Given the description of an element on the screen output the (x, y) to click on. 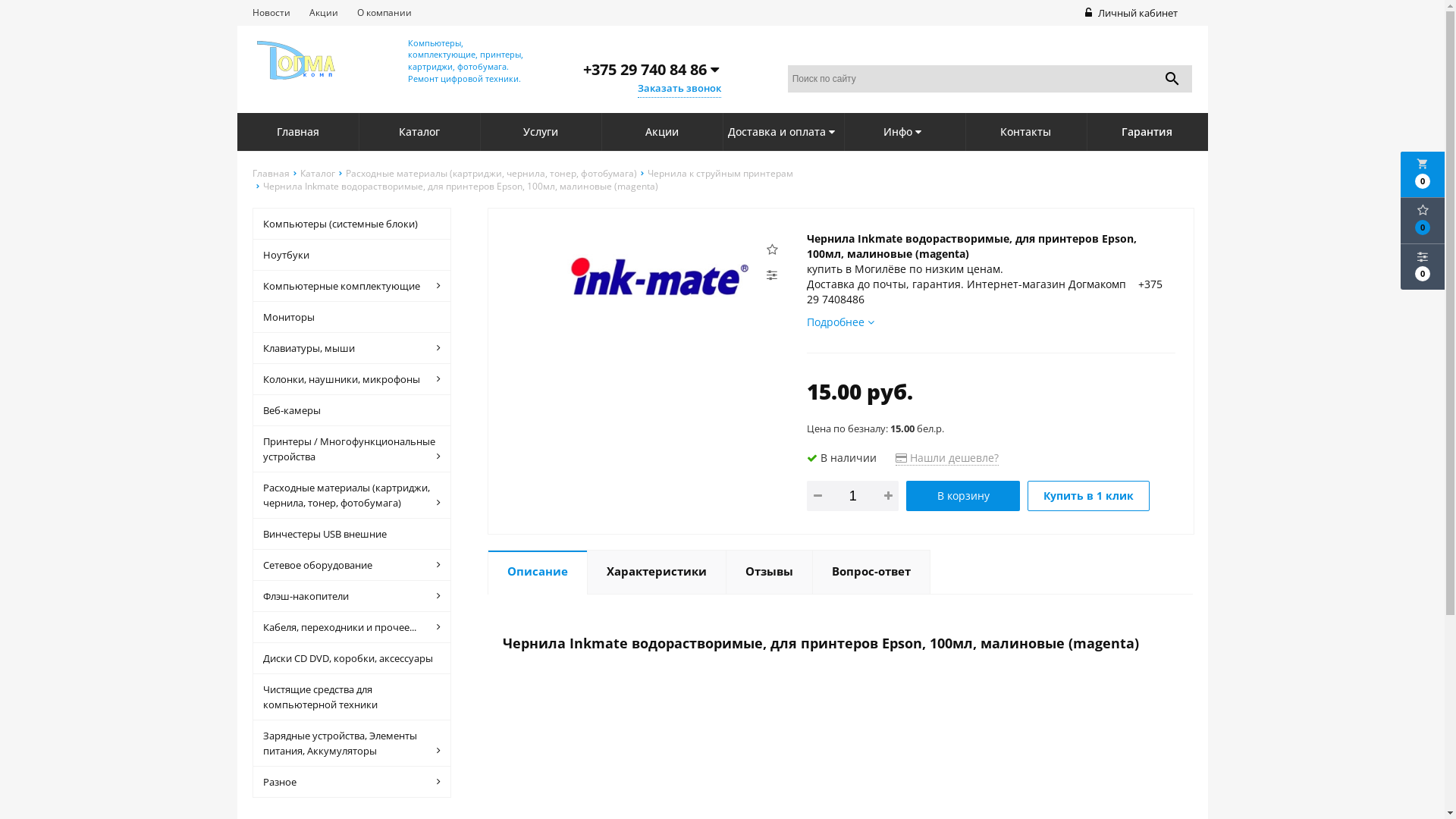
search Element type: text (1171, 78)
+375 29 740 84 86 Element type: text (650, 69)
0 Element type: text (1422, 266)
0 Element type: text (1422, 220)
local_grocery_store
0 Element type: text (1422, 174)
